Given the description of an element on the screen output the (x, y) to click on. 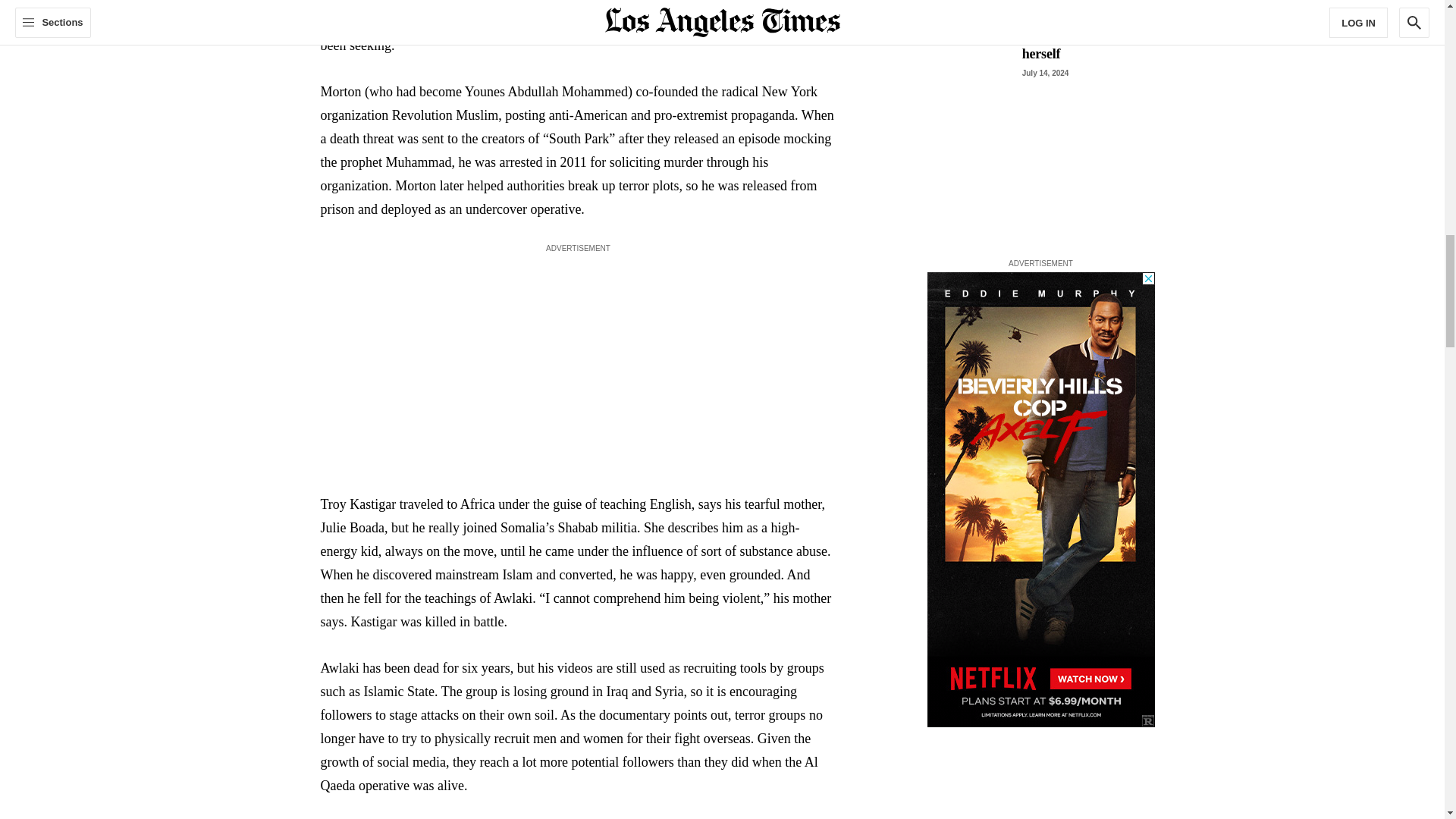
3rd party ad content (1040, 499)
